Given the description of an element on the screen output the (x, y) to click on. 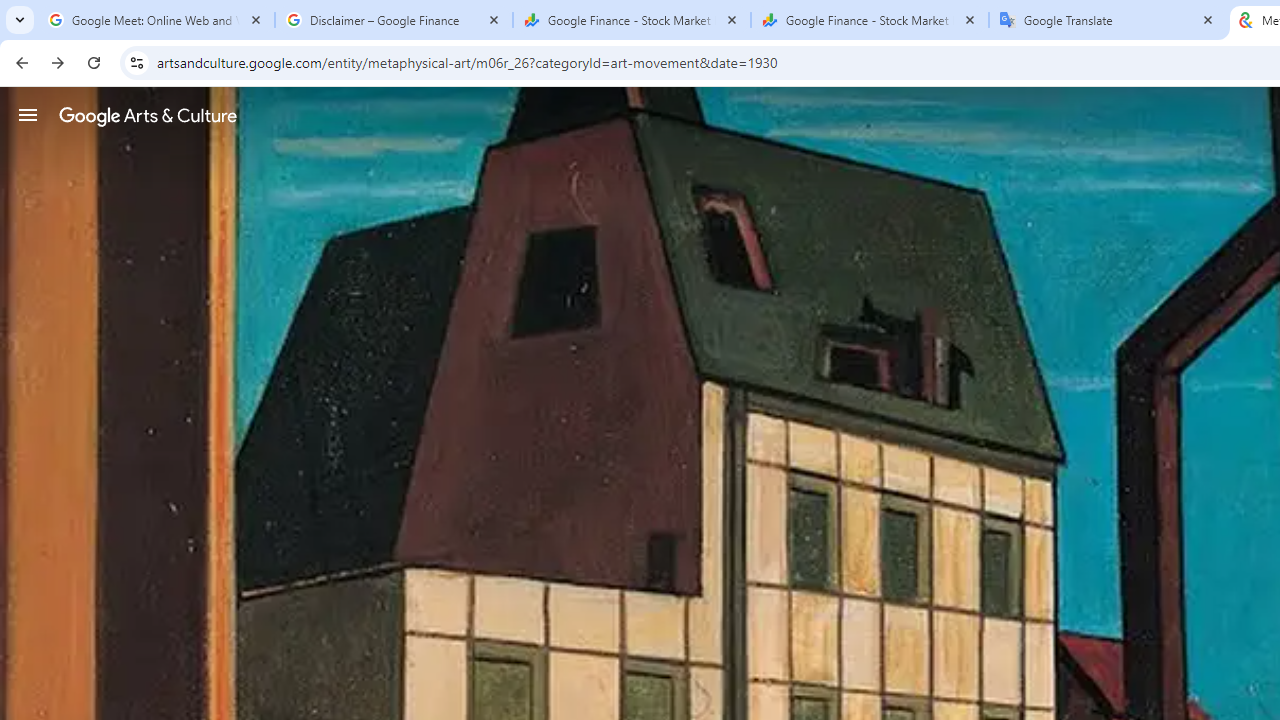
Google Translate (1108, 20)
Google Arts & Culture (148, 115)
Menu (27, 114)
